Given the description of an element on the screen output the (x, y) to click on. 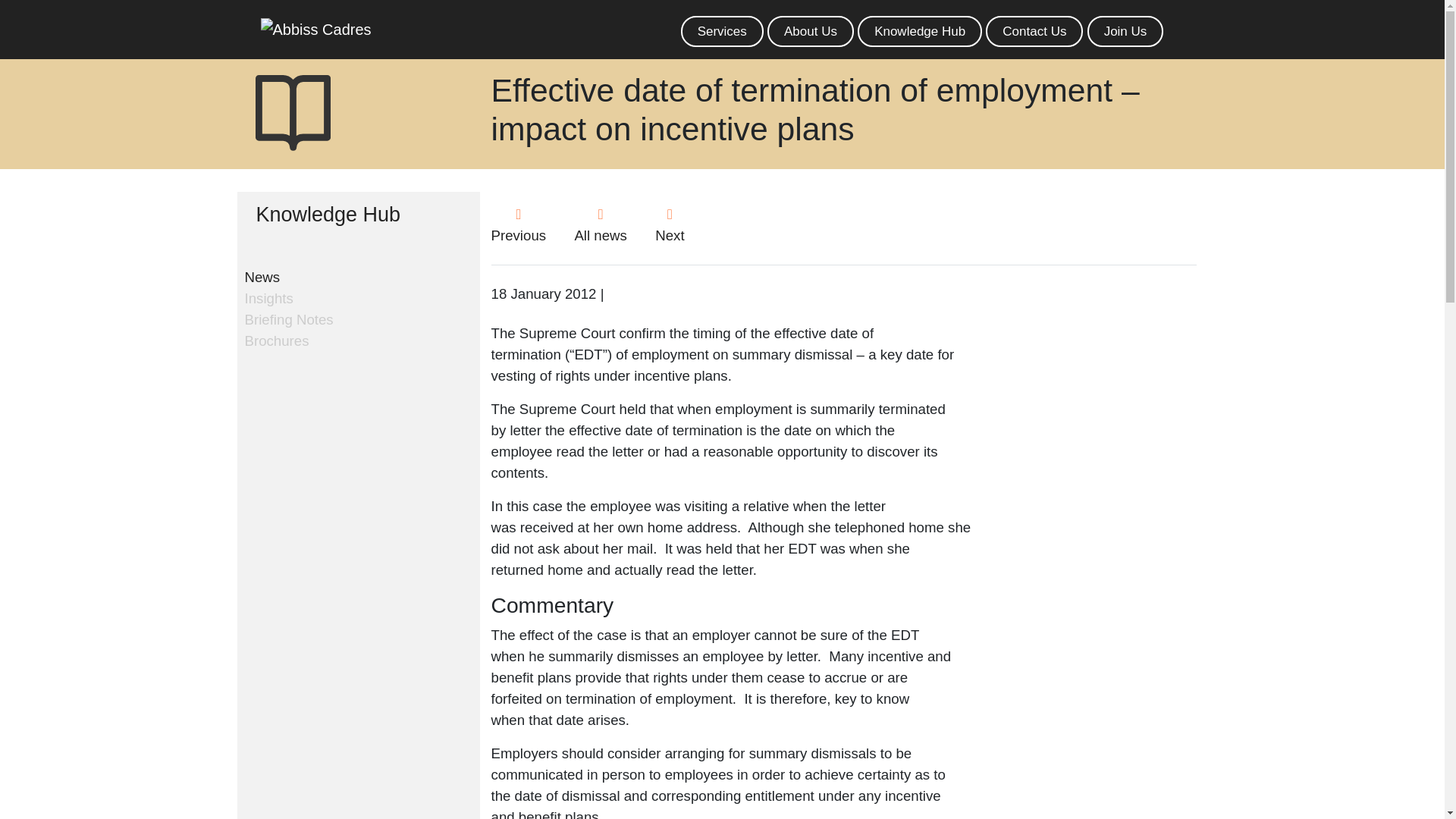
About Us (810, 30)
News (261, 276)
Brochures (276, 340)
Services (721, 30)
All news (599, 224)
Previous (519, 224)
Briefing Notes (288, 318)
Contact Us (1034, 30)
Insights (268, 297)
Knowledge Hub (919, 30)
